Given the description of an element on the screen output the (x, y) to click on. 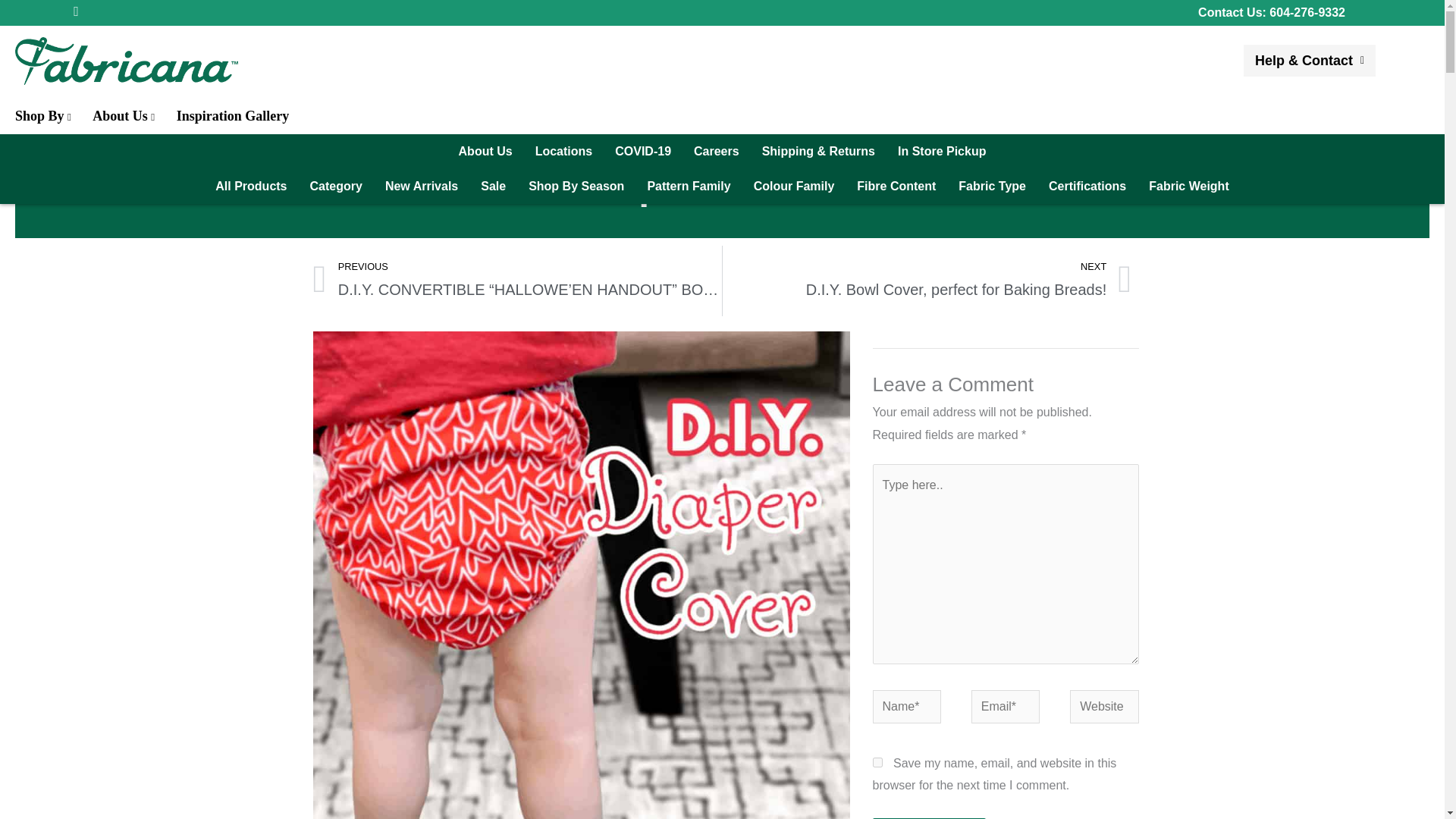
Fabric Weight (1188, 185)
Shop By (42, 116)
Shop By Season (575, 185)
Pattern Family (687, 185)
About Us (485, 152)
Certifications (1086, 185)
Careers (716, 151)
Inspiration Gallery (232, 116)
In Store Pickup (941, 151)
All Products (250, 185)
Colour Family (793, 185)
About Us (123, 116)
Sale (492, 185)
Contact Us: 604-276-9332 (1271, 11)
Category (336, 185)
